Given the description of an element on the screen output the (x, y) to click on. 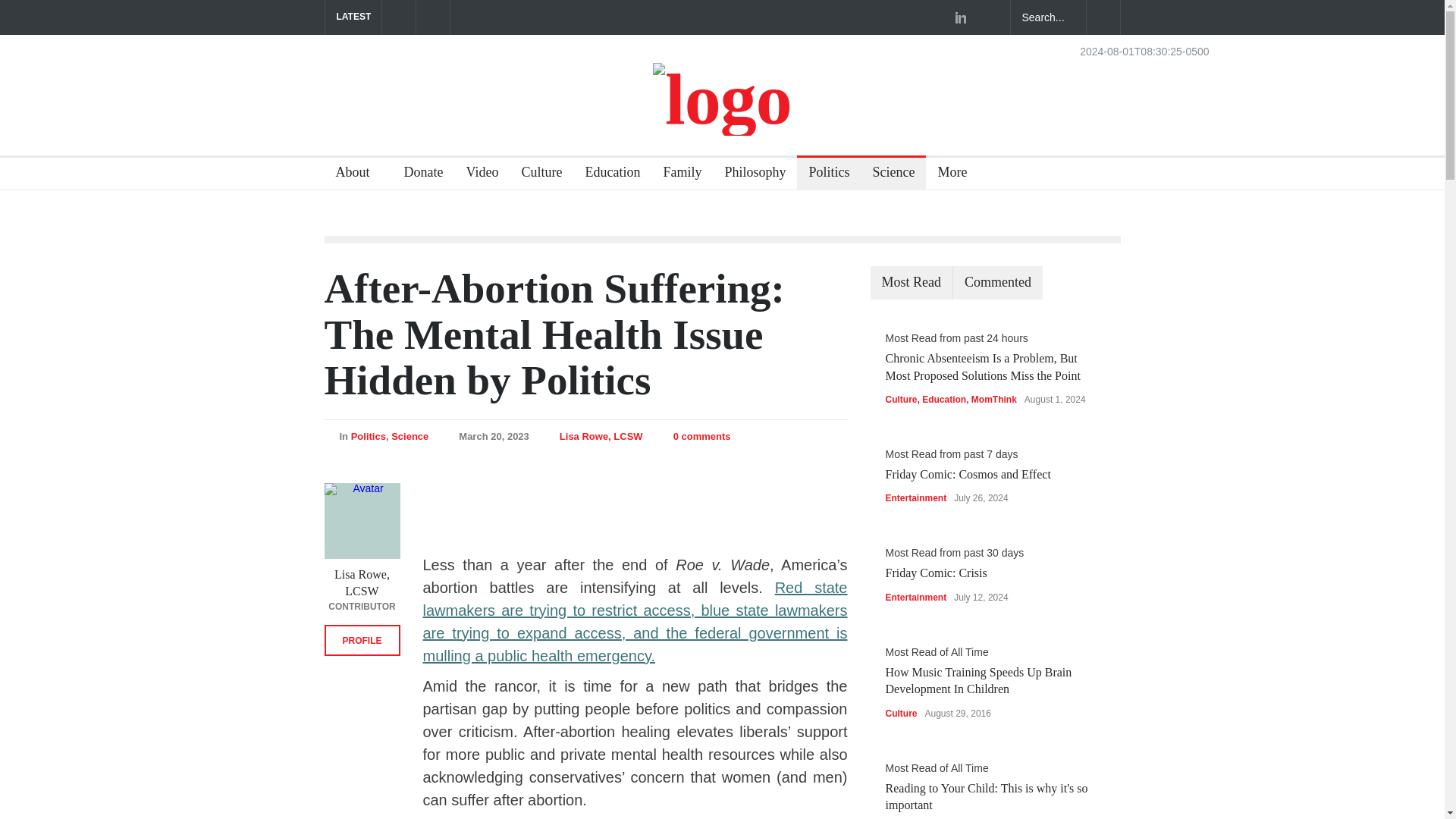
Politics (822, 174)
Search... (1048, 17)
About (358, 174)
2024-08-01T08:30:25-0500 (1144, 50)
Philosophy (749, 174)
0 comments (701, 436)
Science (887, 174)
Intellectual Takeout (722, 98)
0 comments (701, 436)
Culture (535, 174)
Science (409, 436)
